Given the description of an element on the screen output the (x, y) to click on. 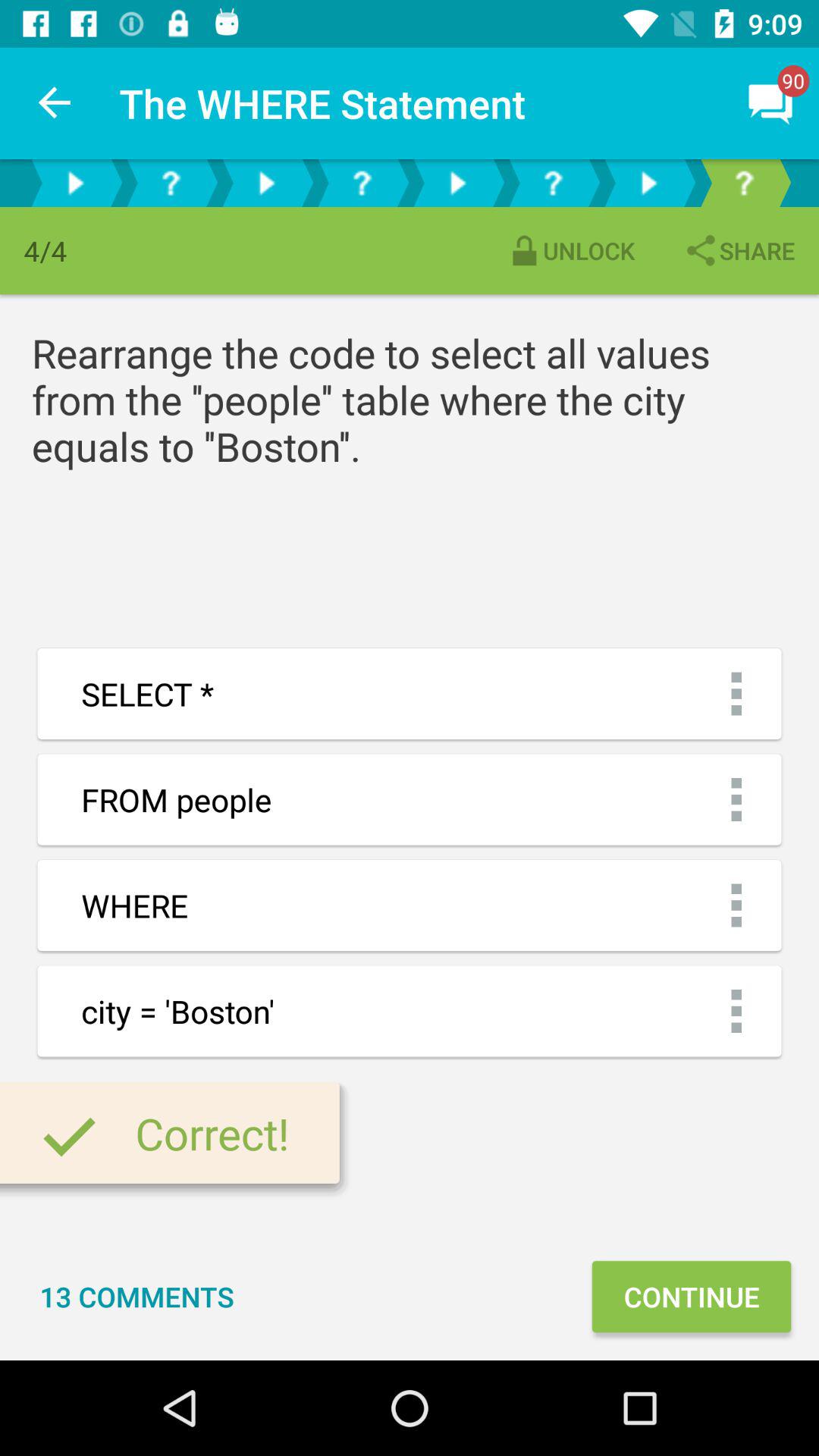
add question (361, 183)
